Given the description of an element on the screen output the (x, y) to click on. 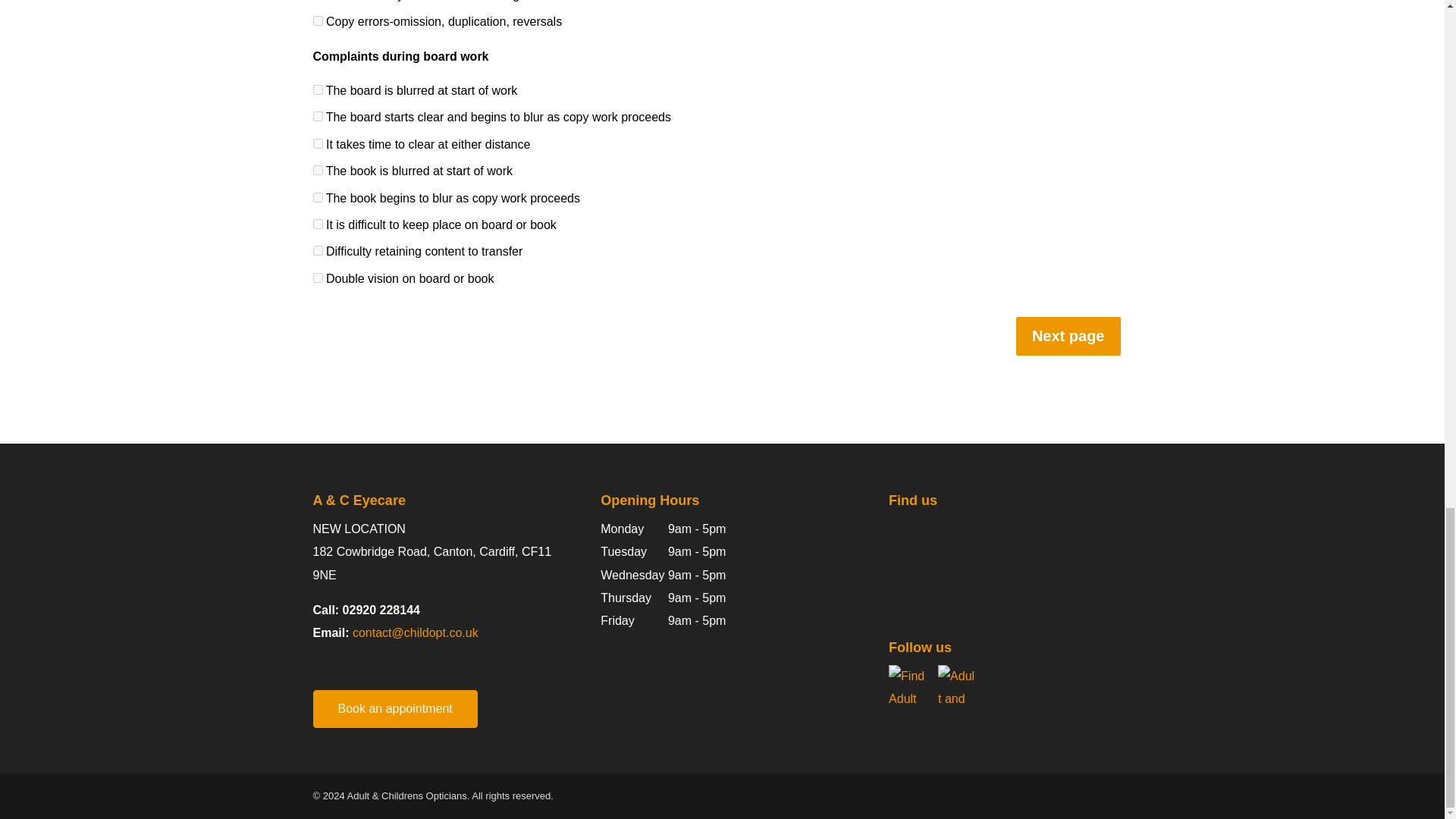
It is difficult to keep place on board or book (317, 224)
Copy errors-omission, duplication, reversals (317, 20)
The book is blurred at start of work (317, 170)
The book begins to blur as copy work proceeds (317, 197)
The board is blurred at start of work (317, 90)
Adult and Children's Opticians Cardiff are on Facebook (907, 683)
It takes time to clear at either distance (317, 143)
